Given the description of an element on the screen output the (x, y) to click on. 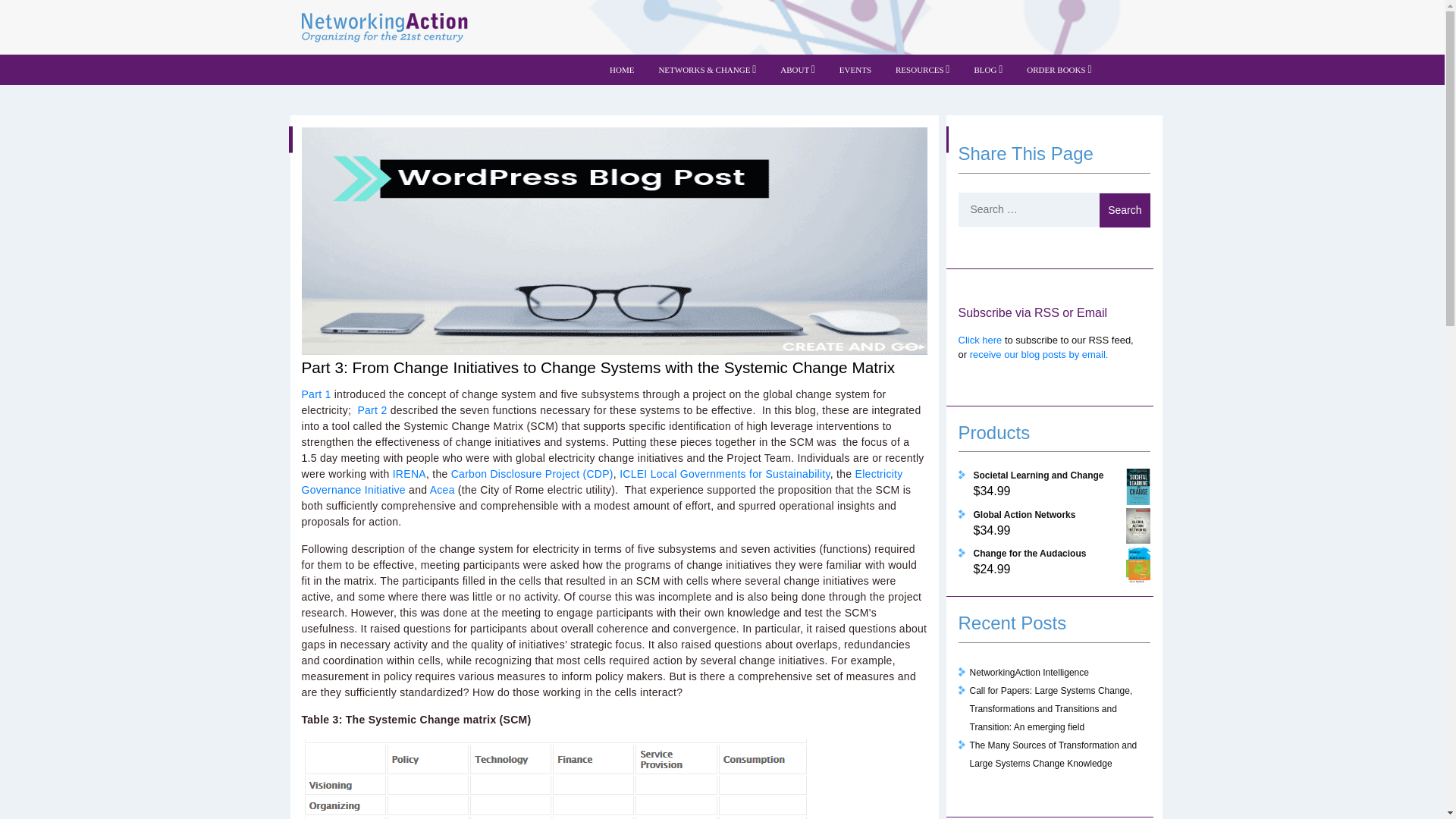
ORDER BOOKS (1058, 69)
Part 2 (371, 410)
HOME (621, 69)
IRENA (409, 473)
Search (1124, 210)
RESOURCES (921, 69)
ICLEI Local Governments for Sustainability (724, 473)
EVENTS (855, 69)
Part 1 (316, 394)
ABOUT (797, 69)
Search (1124, 210)
BLOG (987, 69)
